Given the description of an element on the screen output the (x, y) to click on. 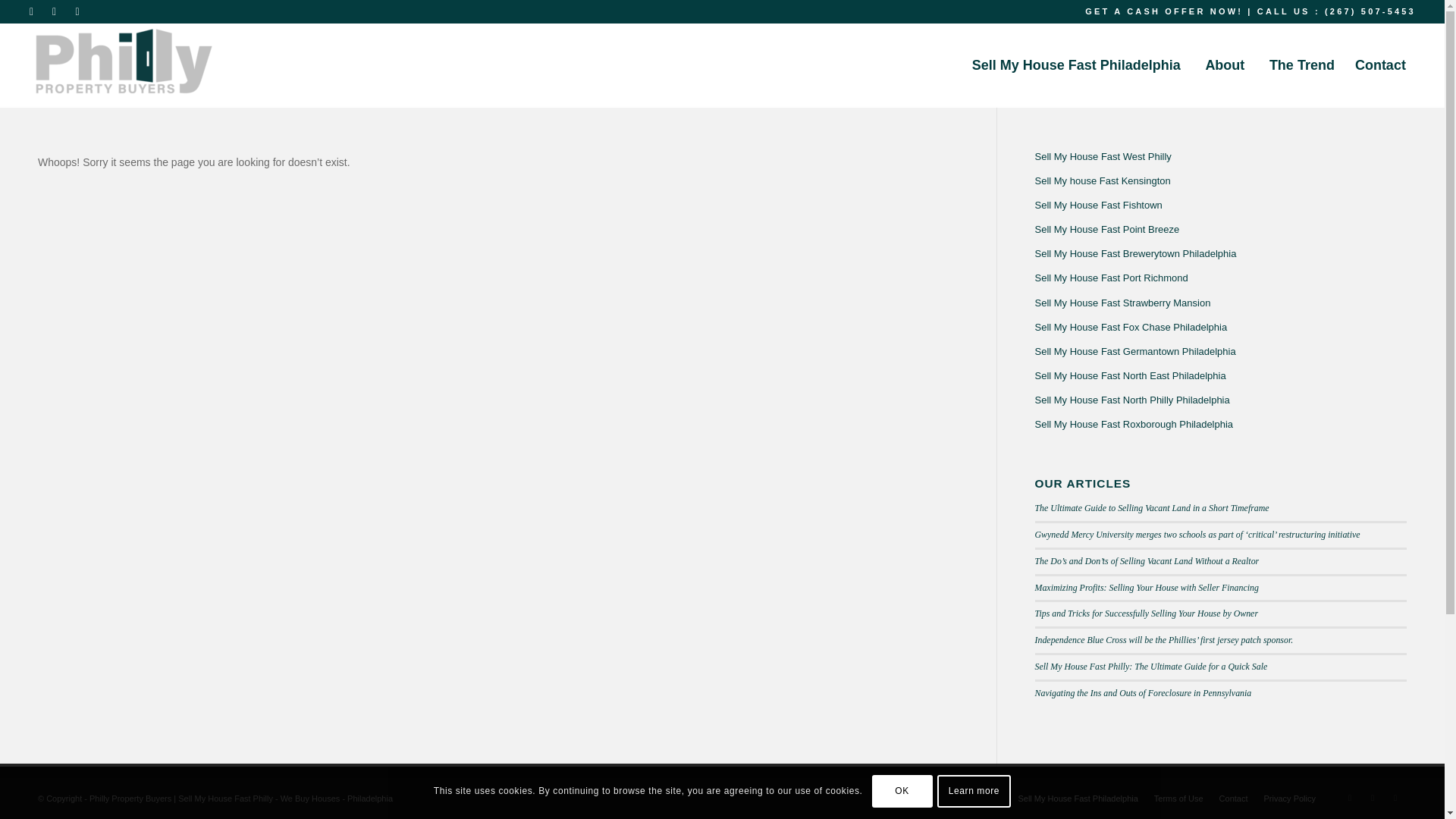
Instagram (78, 11)
Sell My House Fast Fox Chase Philadelphia (1219, 327)
Real Estate (968, 601)
Sell My House Fast West Philly (1219, 156)
X (32, 11)
Facebook (55, 11)
Sell My House Fast North East Philadelphia (1219, 375)
Sell My House Fast Roxborough Philadelphia (1219, 424)
Tips and Tricks for Successfully Selling Your House by Owner (1145, 613)
